Given the description of an element on the screen output the (x, y) to click on. 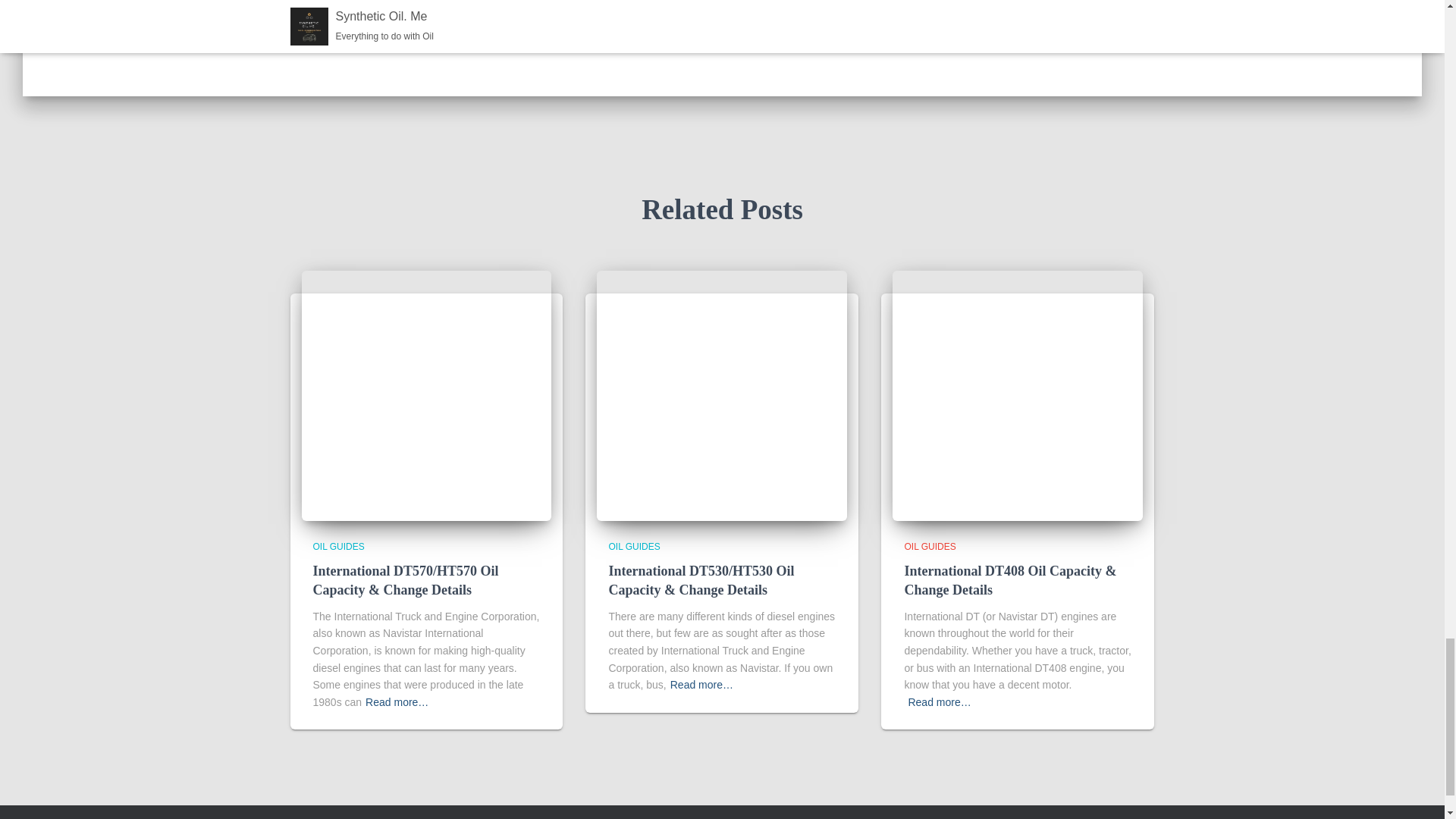
OIL GUIDES (633, 546)
View all posts in Oil Guides (929, 546)
View all posts in Oil Guides (338, 546)
View all posts in Oil Guides (633, 546)
OIL GUIDES (929, 546)
OIL GUIDES (338, 546)
